Given the description of an element on the screen output the (x, y) to click on. 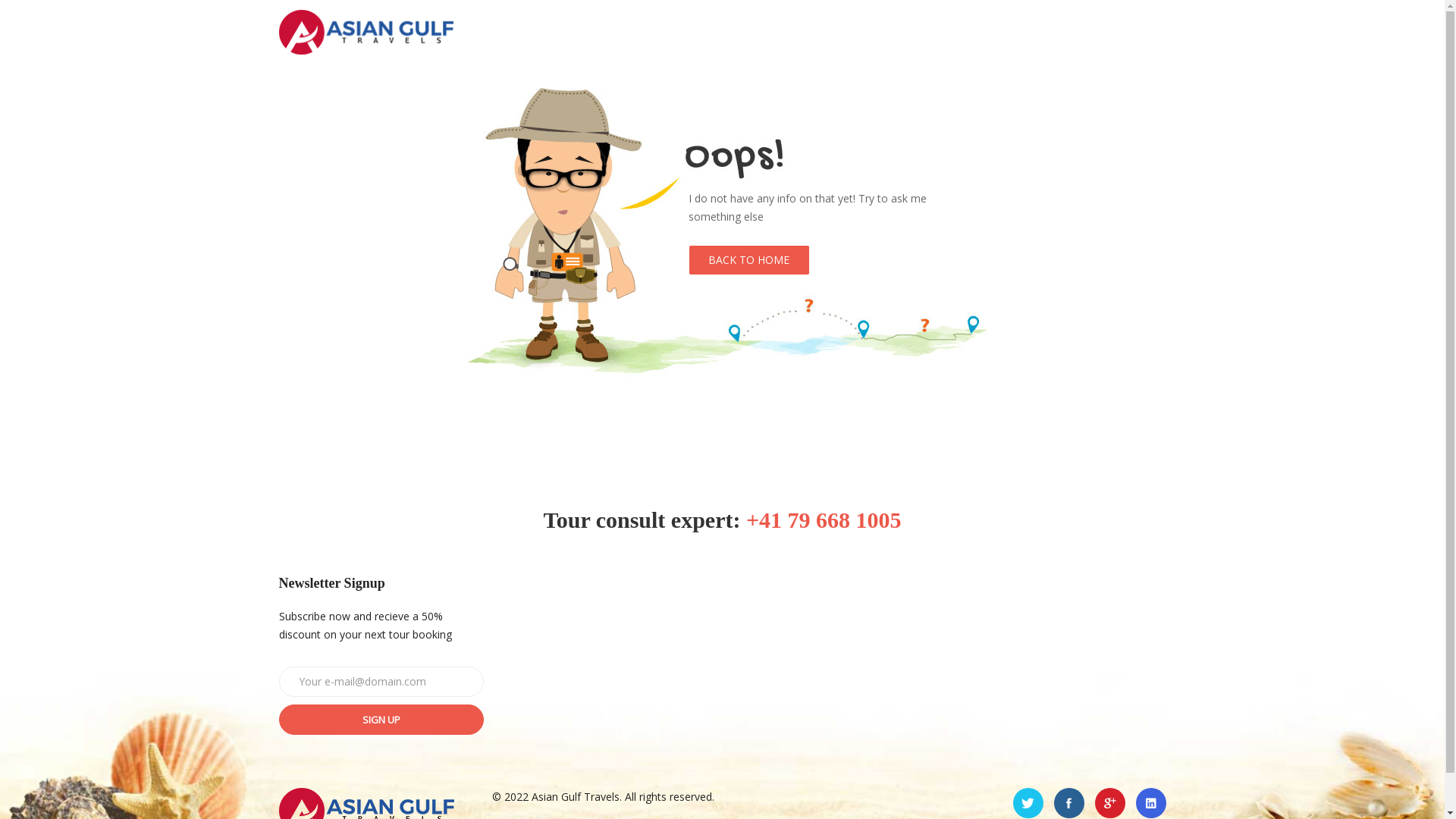
. Element type: text (1150, 802)
. Element type: text (1110, 802)
Tours Element type: text (1013, 32)
Home Element type: text (866, 32)
About Us Element type: text (942, 32)
. Element type: text (1028, 802)
Contact Us Element type: text (1090, 32)
SIGN UP Element type: text (381, 719)
BACK TO HOME Element type: text (748, 259)
. Element type: text (1069, 802)
